Given the description of an element on the screen output the (x, y) to click on. 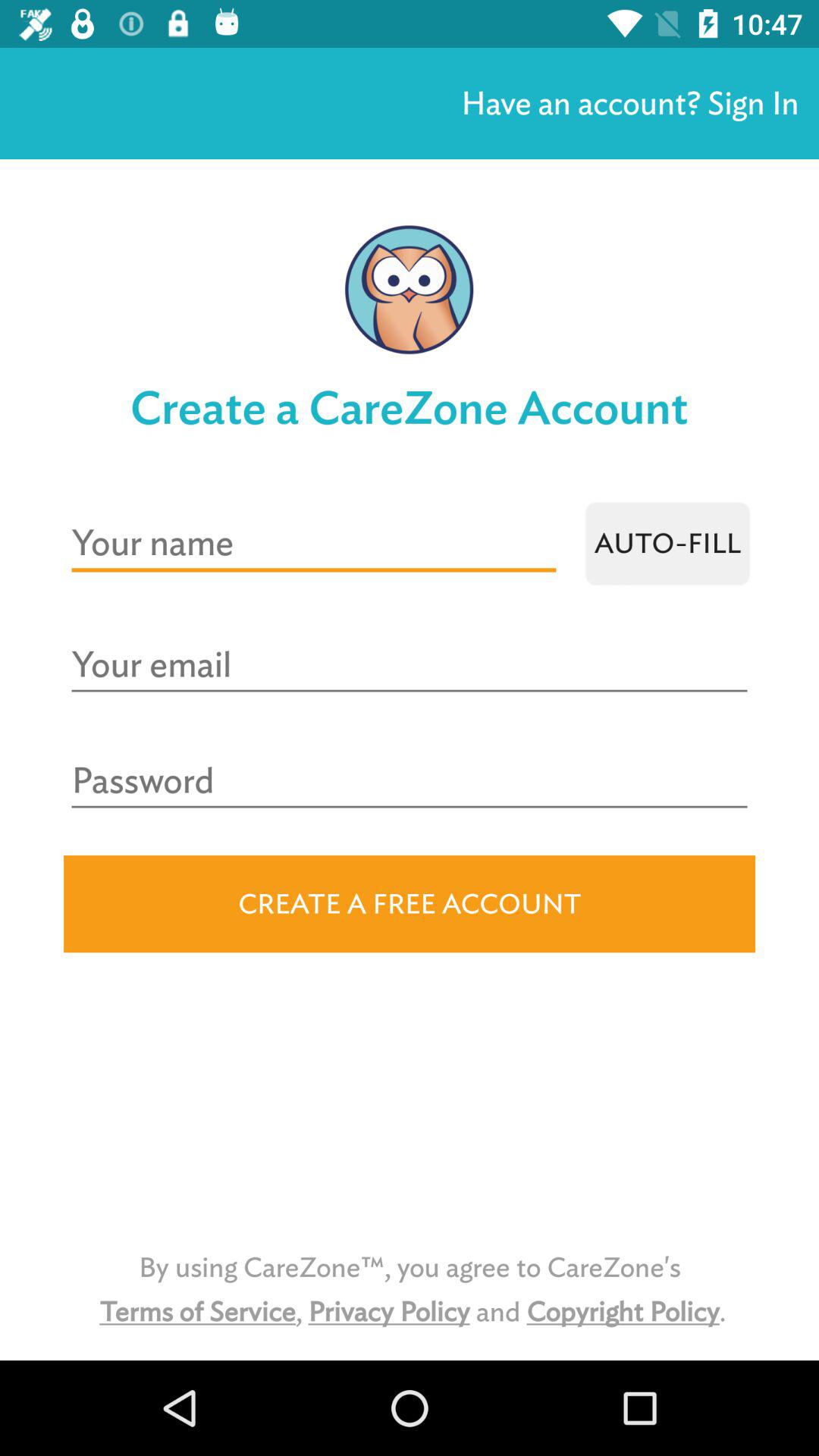
email box (409, 665)
